Given the description of an element on the screen output the (x, y) to click on. 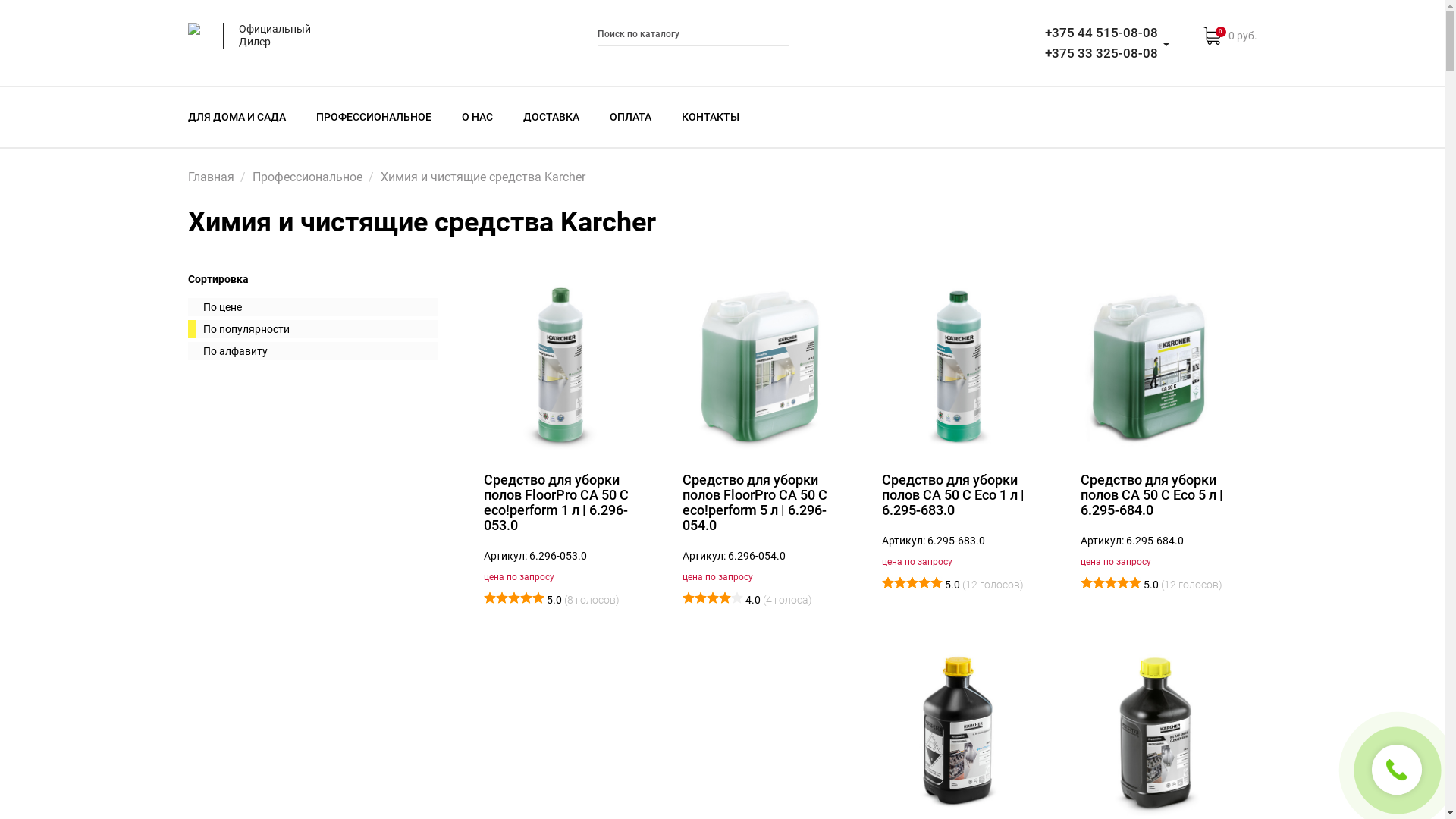
+375 44 515-08-08
+375 33 325-08-08 Element type: text (1100, 42)
